Given the description of an element on the screen output the (x, y) to click on. 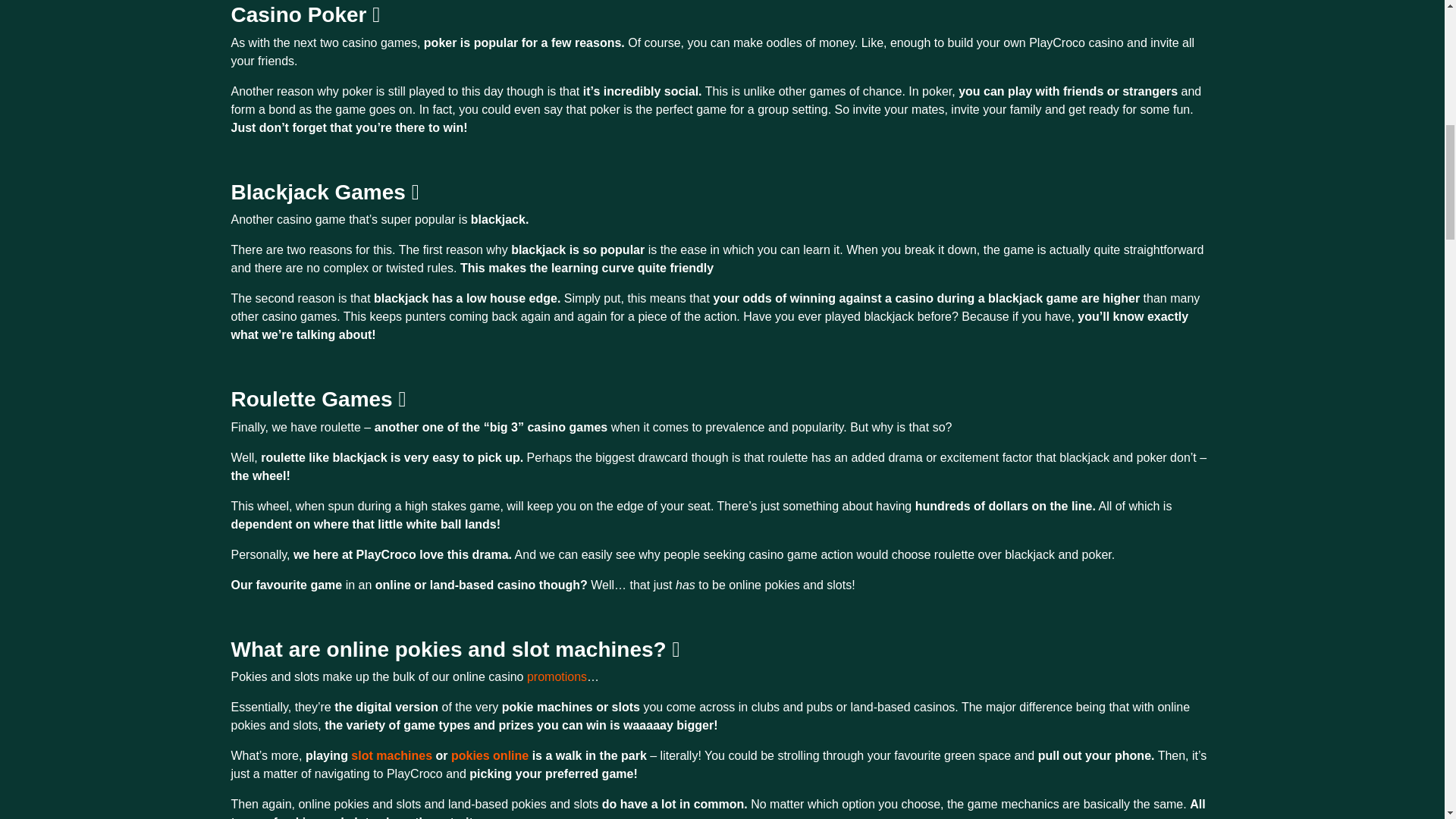
playcroco casino promotions (556, 676)
slot machines (391, 755)
pokies online (489, 755)
promotions (556, 676)
slot machines (391, 755)
pokies (489, 755)
